Given the description of an element on the screen output the (x, y) to click on. 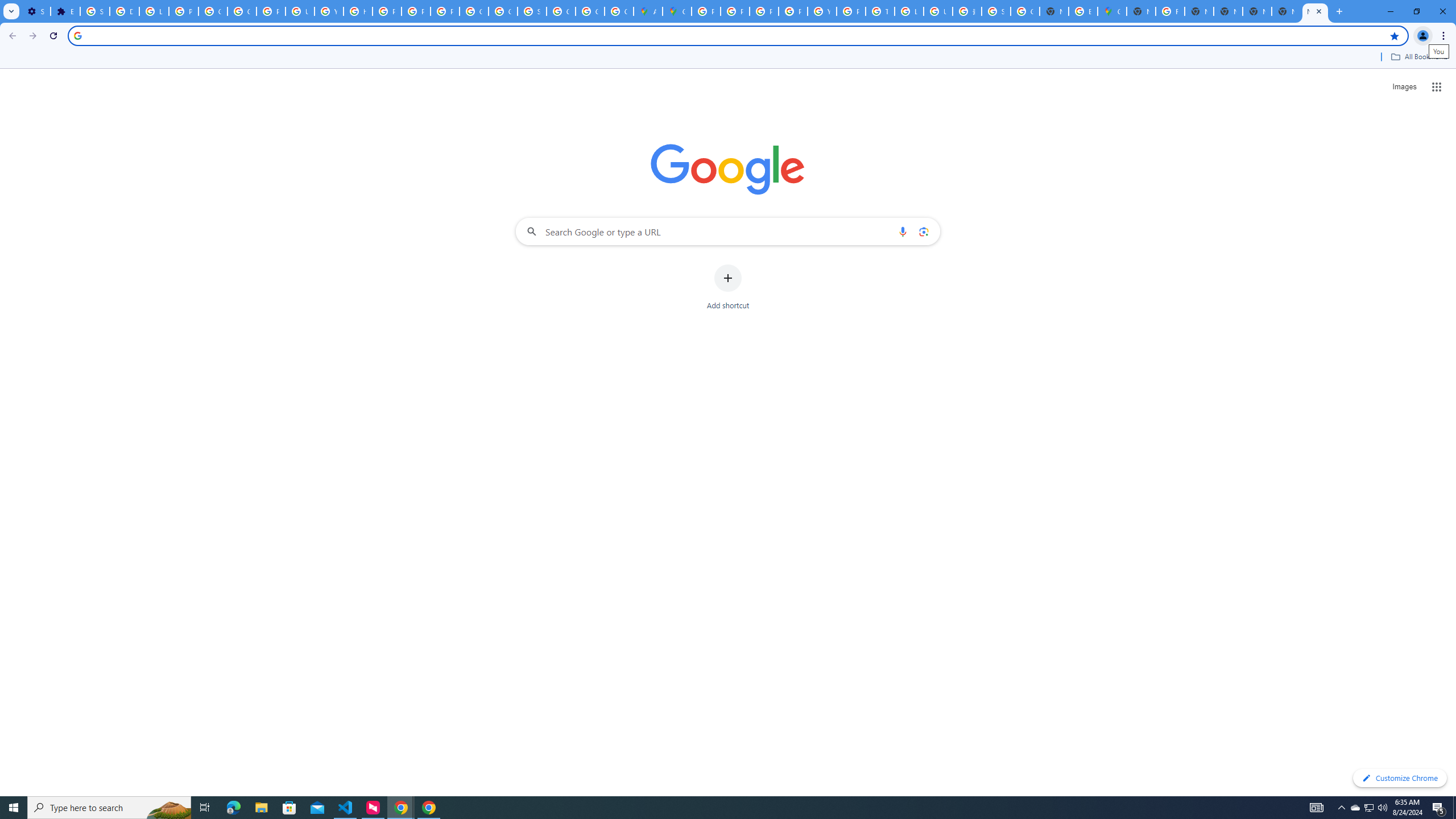
Sign in - Google Accounts (95, 11)
Google Maps (677, 11)
Tips & tricks for Chrome - Google Chrome Help (879, 11)
Privacy Help Center - Policies Help (734, 11)
Sign in - Google Accounts (996, 11)
Delete photos & videos - Computer - Google Photos Help (124, 11)
Policy Accountability and Transparency - Transparency Center (705, 11)
